Given the description of an element on the screen output the (x, y) to click on. 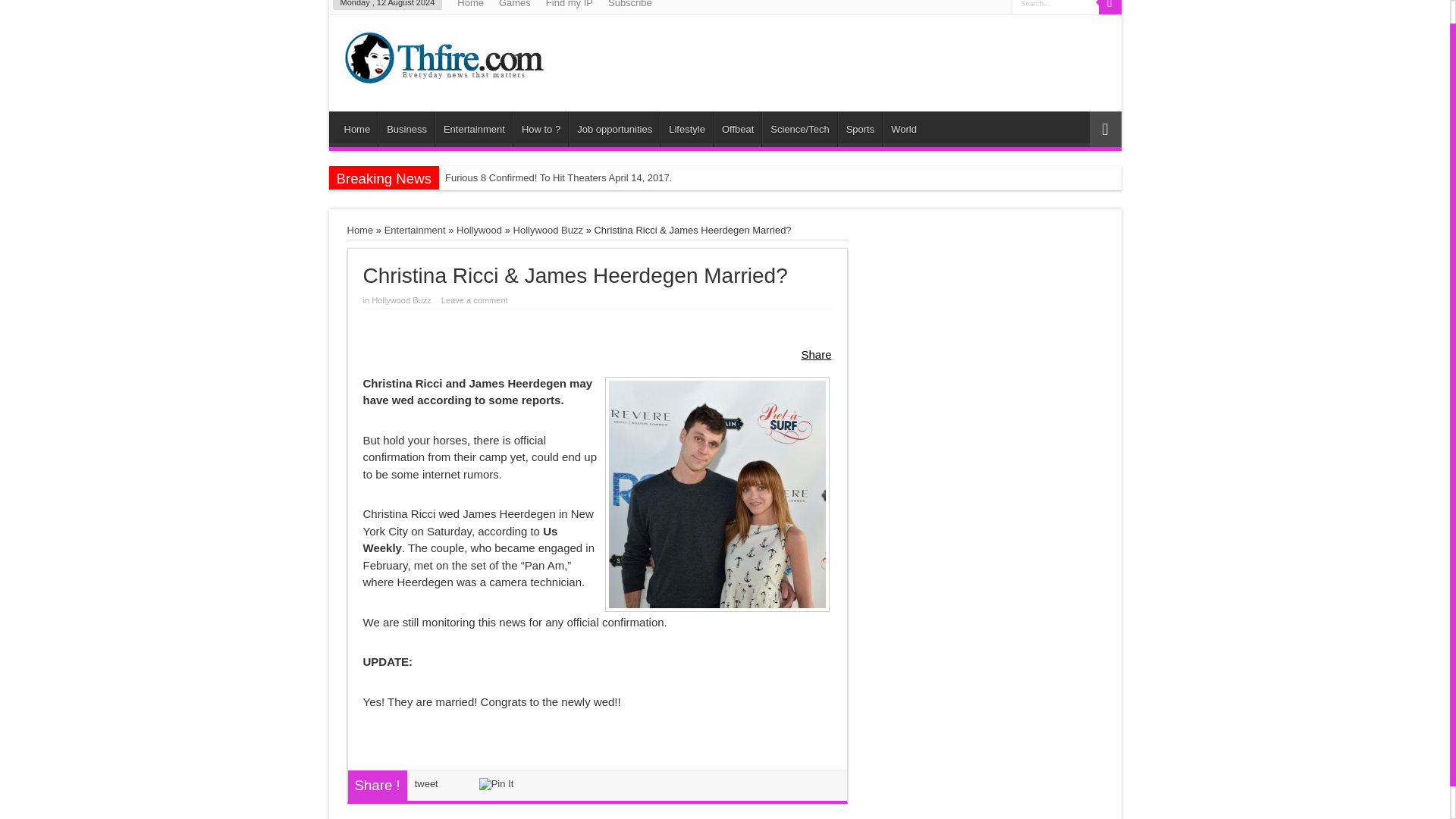
Search (1109, 7)
Offbeat (737, 129)
Furious 8 Confirmed! To Hit Theaters April 14, 2017. (593, 177)
Hollywood (479, 229)
Kawhi Leonard Named NBA Defensive Player of the Year 2015-16 (593, 200)
Business (405, 129)
Home (357, 129)
World (903, 129)
Sports (860, 129)
Lifestyle (687, 129)
